Given the description of an element on the screen output the (x, y) to click on. 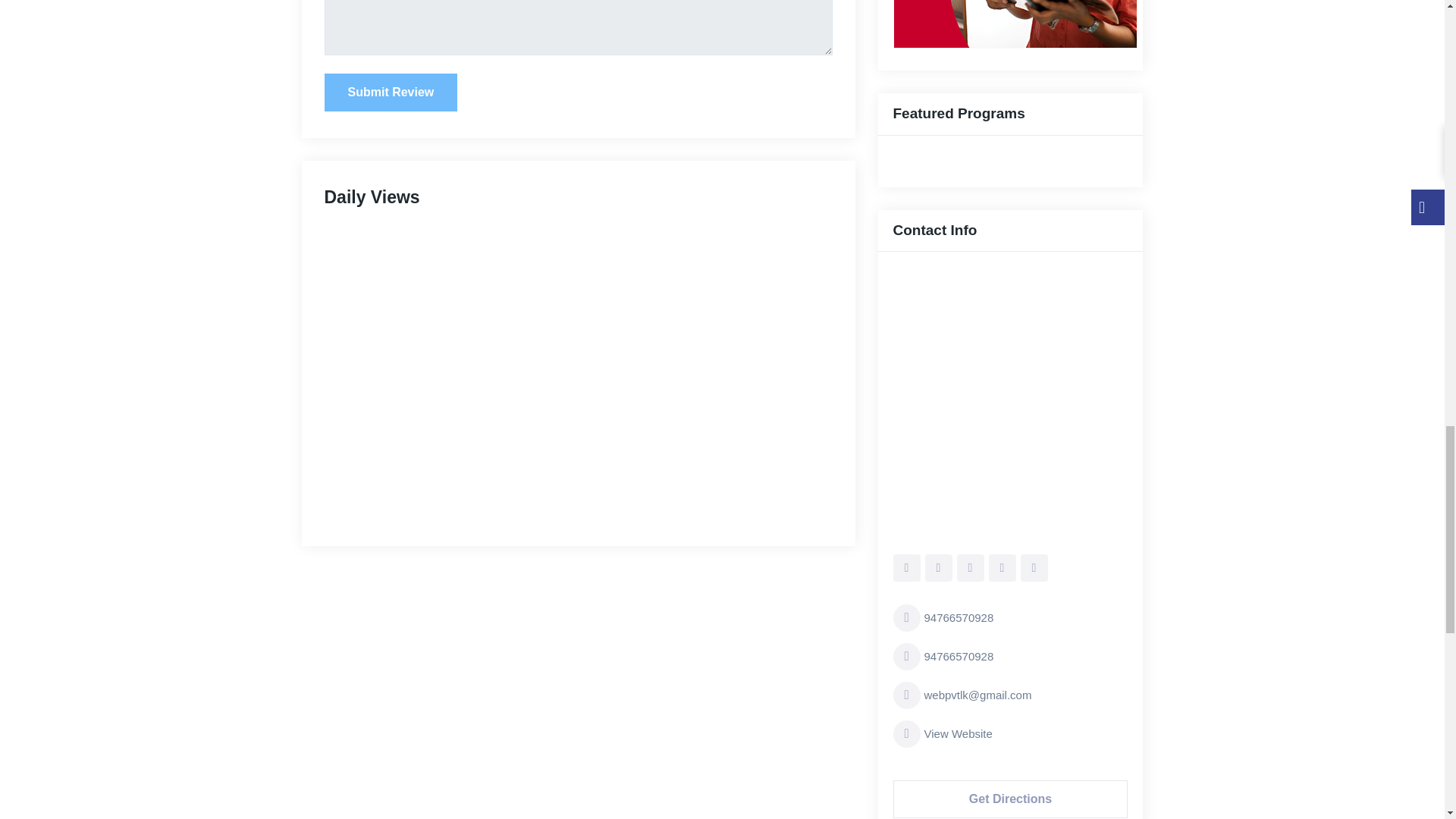
Office Number (1010, 656)
Submit Review (391, 92)
Email (1010, 695)
Website Url (1010, 733)
WhatsApp Number (1010, 617)
